Given the description of an element on the screen output the (x, y) to click on. 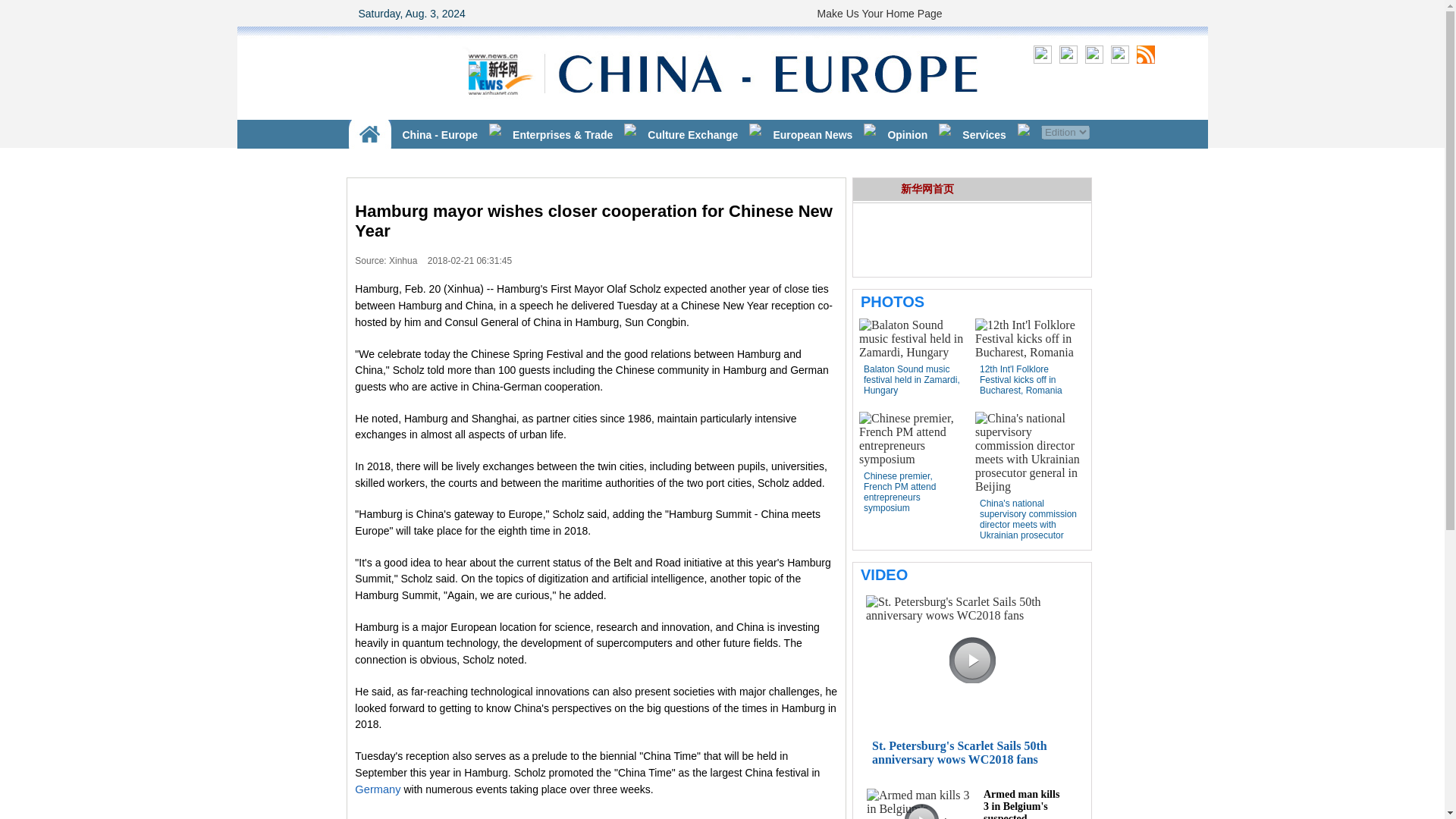
Germany (377, 788)
